Given the description of an element on the screen output the (x, y) to click on. 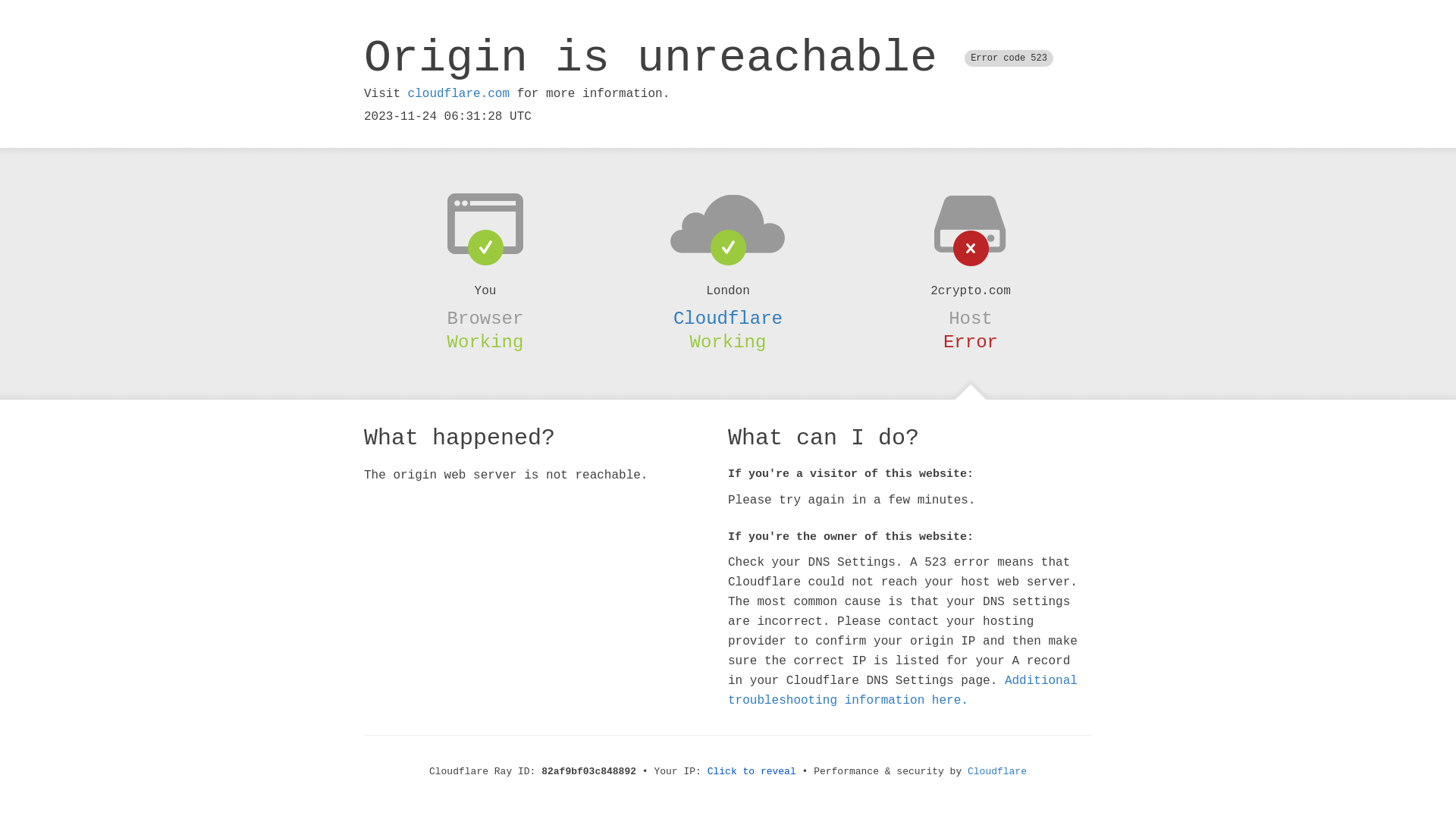
Click to reveal Element type: text (751, 771)
Additional troubleshooting information here. Element type: text (902, 690)
Cloudflare Element type: text (996, 771)
Cloudflare Element type: text (727, 318)
cloudflare.com Element type: text (458, 93)
